Given the description of an element on the screen output the (x, y) to click on. 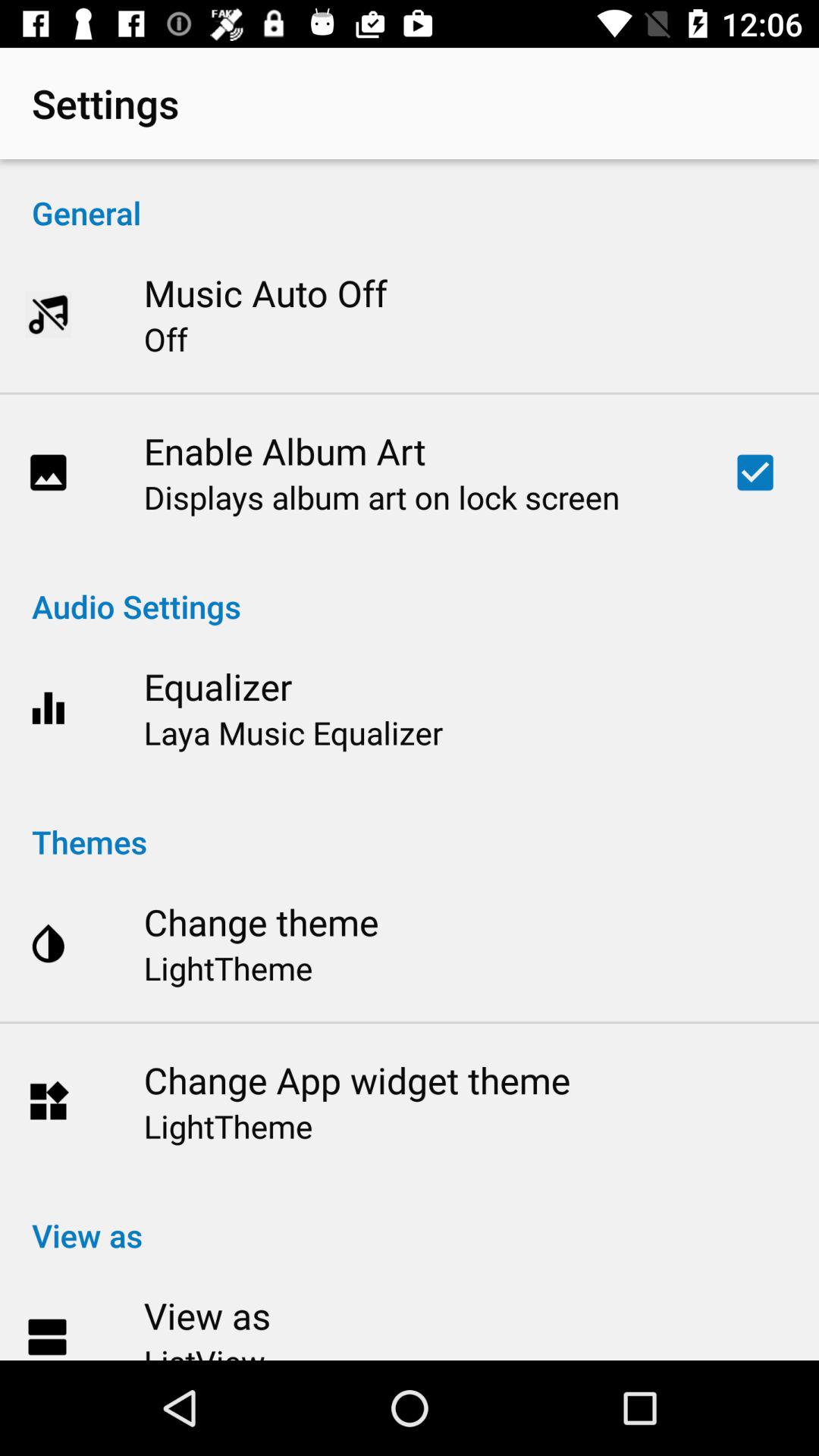
jump until audio settings icon (409, 589)
